Given the description of an element on the screen output the (x, y) to click on. 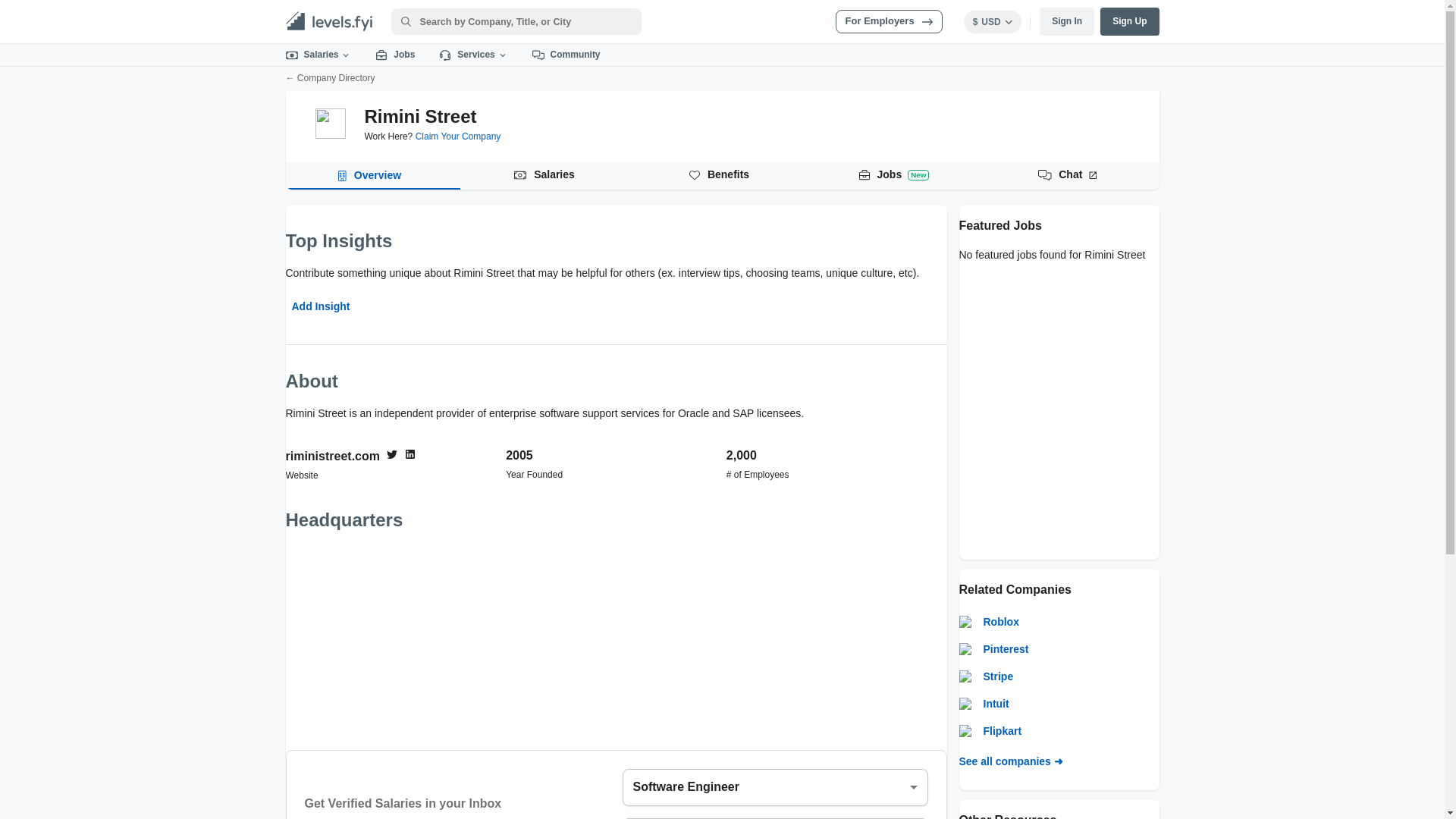
Company Address (615, 638)
Salaries (317, 55)
Sign In (1066, 21)
For Employers (888, 21)
Sign Up (1129, 21)
